Given the description of an element on the screen output the (x, y) to click on. 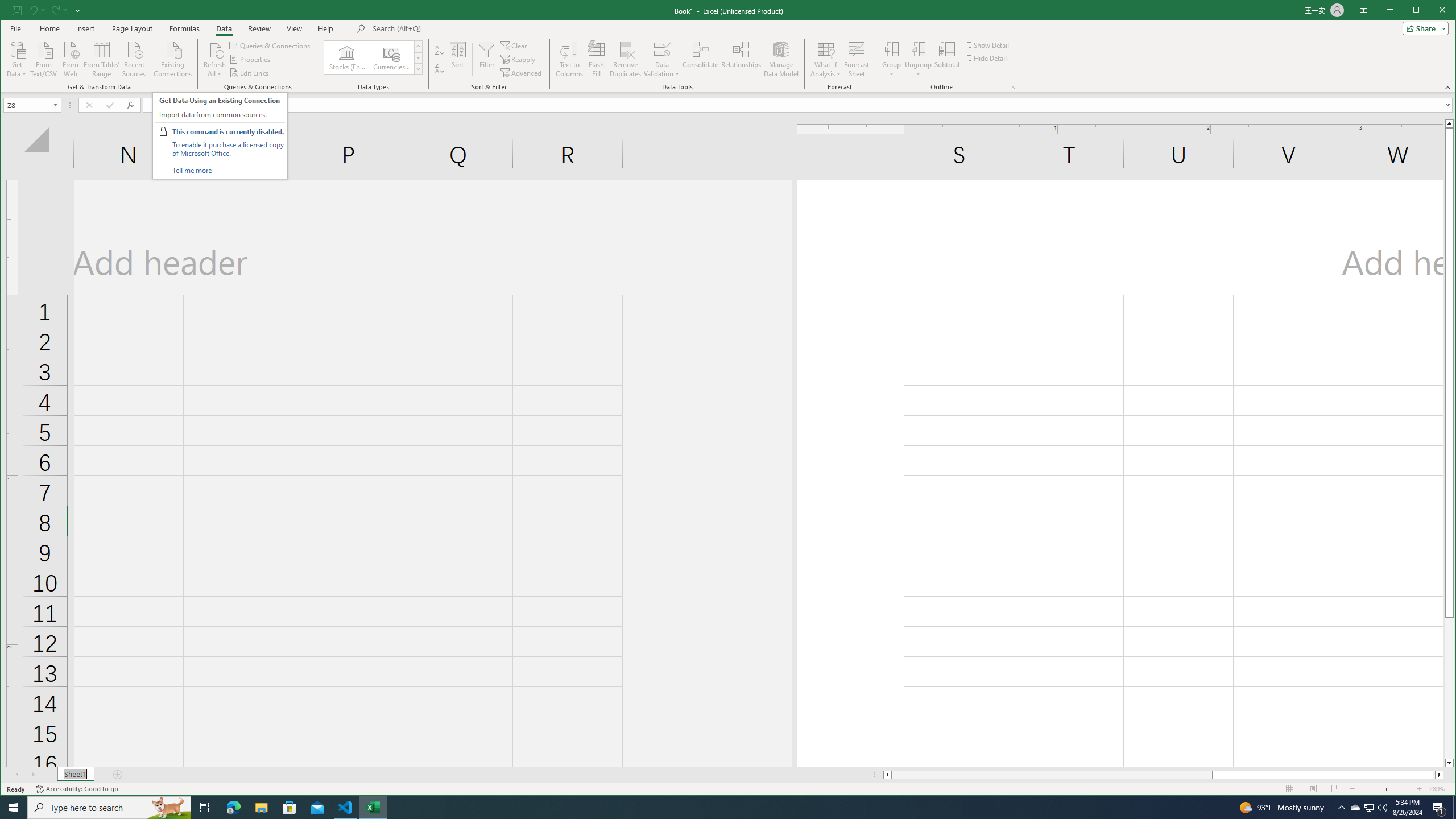
File Explorer (261, 807)
Q2790: 100% (1382, 807)
Excel - 1 running window (373, 807)
